Given the description of an element on the screen output the (x, y) to click on. 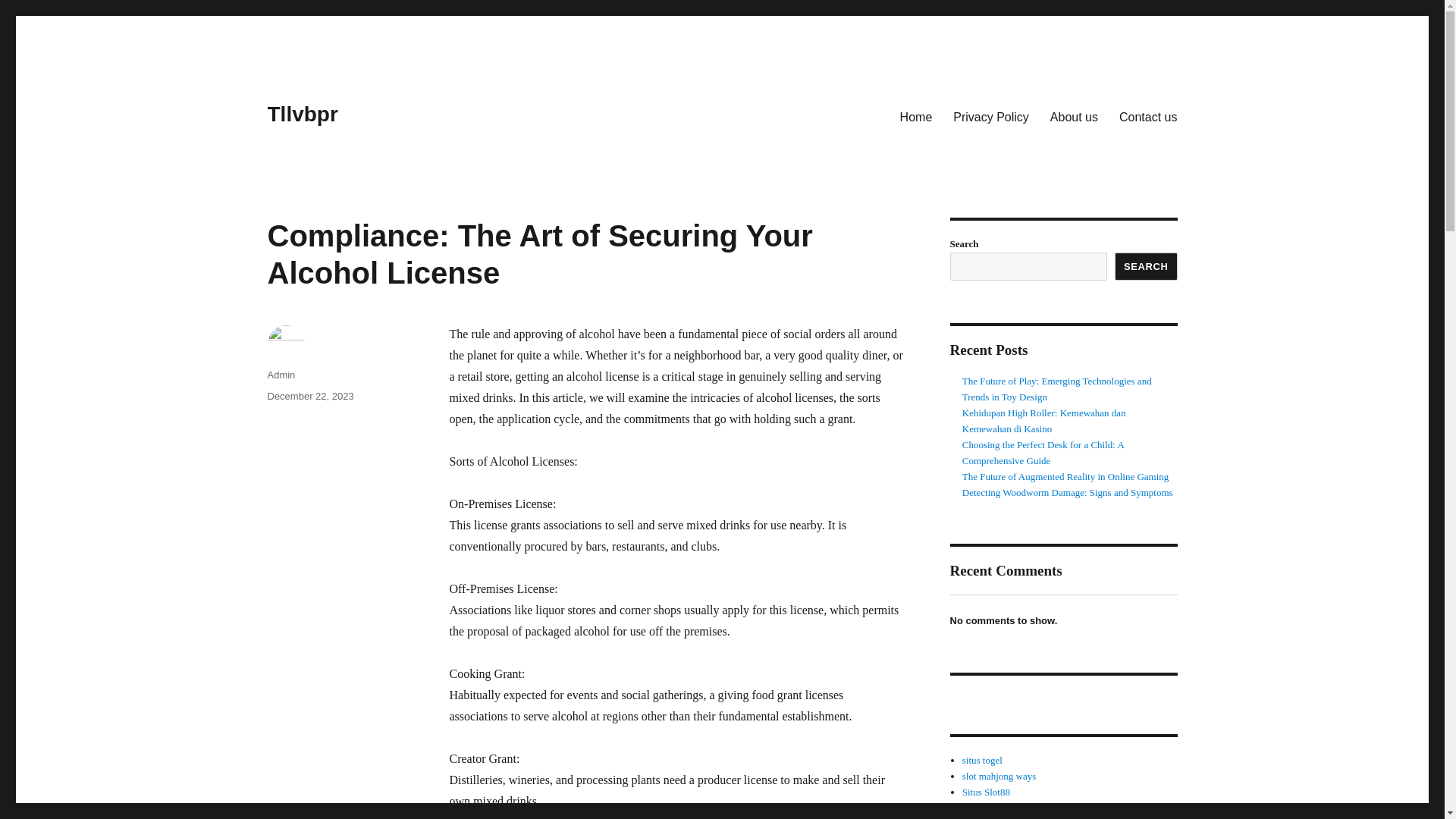
daftar joker123 (992, 818)
SEARCH (1146, 266)
About us (1073, 116)
Kehidupan High Roller: Kemewahan dan Kemewahan di Kasino (1043, 420)
Admin (280, 374)
Tllvbpr (301, 114)
Choosing the Perfect Desk for a Child: A Comprehensive Guide (1043, 452)
Situs Slot88 (986, 791)
slot mahjong ways (999, 776)
Privacy Policy (990, 116)
December 22, 2023 (309, 396)
judi slot online (992, 808)
Contact us (1148, 116)
The Future of Augmented Reality in Online Gaming (1065, 476)
